Given the description of an element on the screen output the (x, y) to click on. 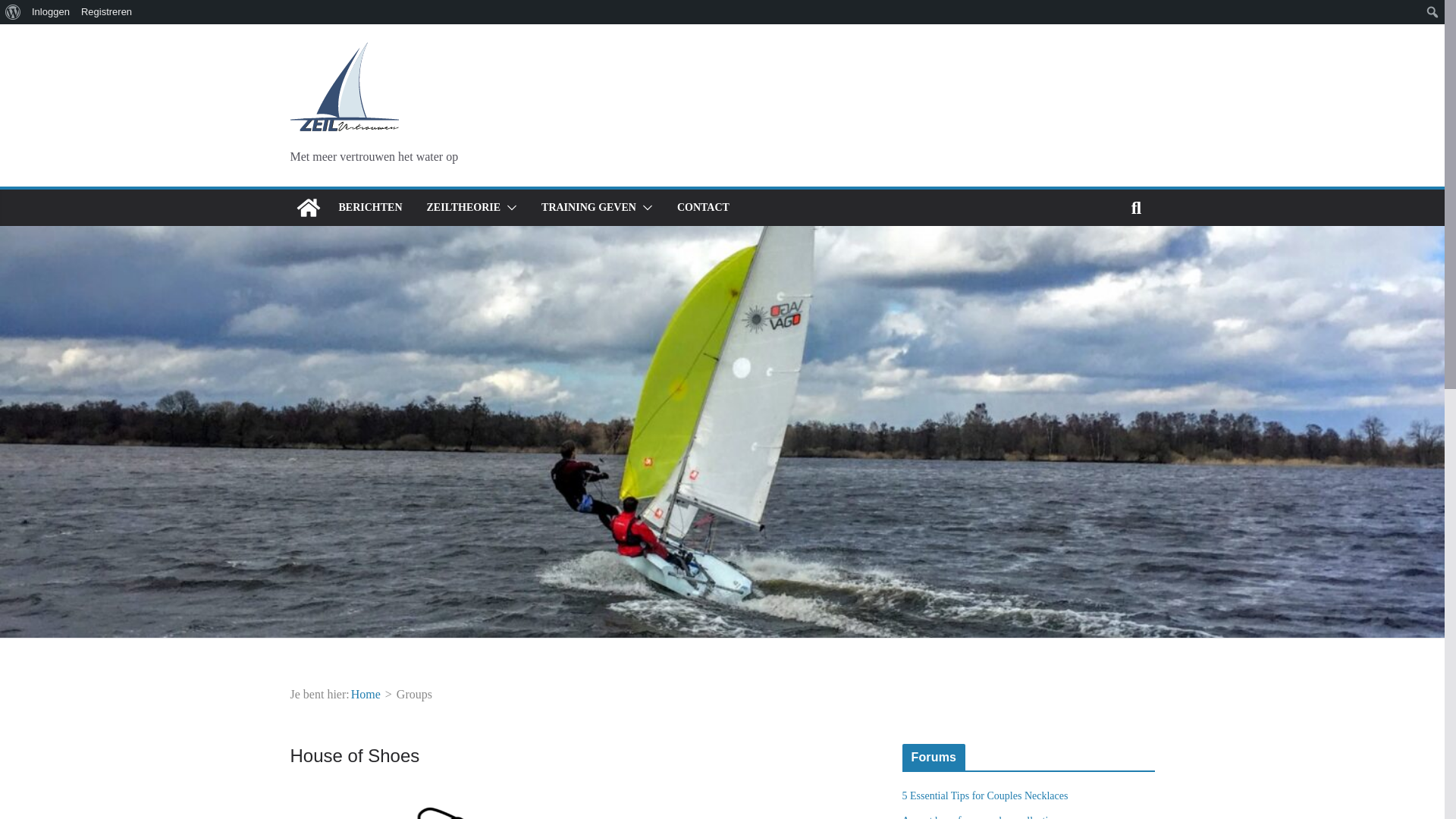
Registreren (106, 12)
ZEILTHEORIE (463, 207)
Zoeken (26, 10)
BERICHTEN (369, 207)
Inloggen (50, 12)
Zeilvertrouwen (307, 207)
TRAINING GEVEN (588, 207)
